Given the description of an element on the screen output the (x, y) to click on. 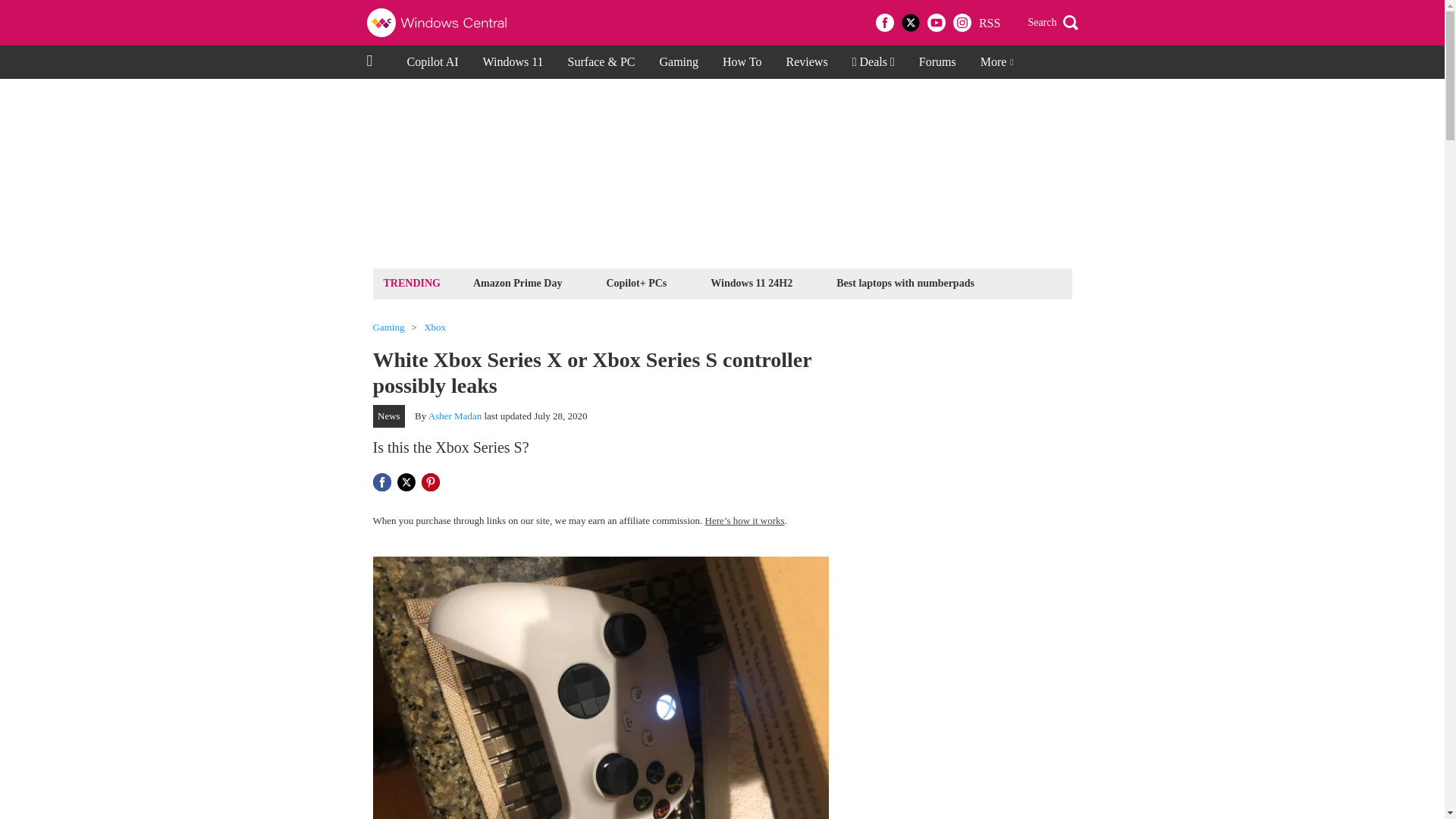
Forums (937, 61)
Windows 11 (513, 61)
Gaming (388, 327)
Copilot AI (432, 61)
RSS (989, 22)
Windows 11 24H2 (750, 282)
Best laptops with numberpads (905, 282)
Gaming (678, 61)
Reviews (807, 61)
Asher Madan (454, 415)
News (389, 415)
Amazon Prime Day (517, 282)
How To (741, 61)
